Given the description of an element on the screen output the (x, y) to click on. 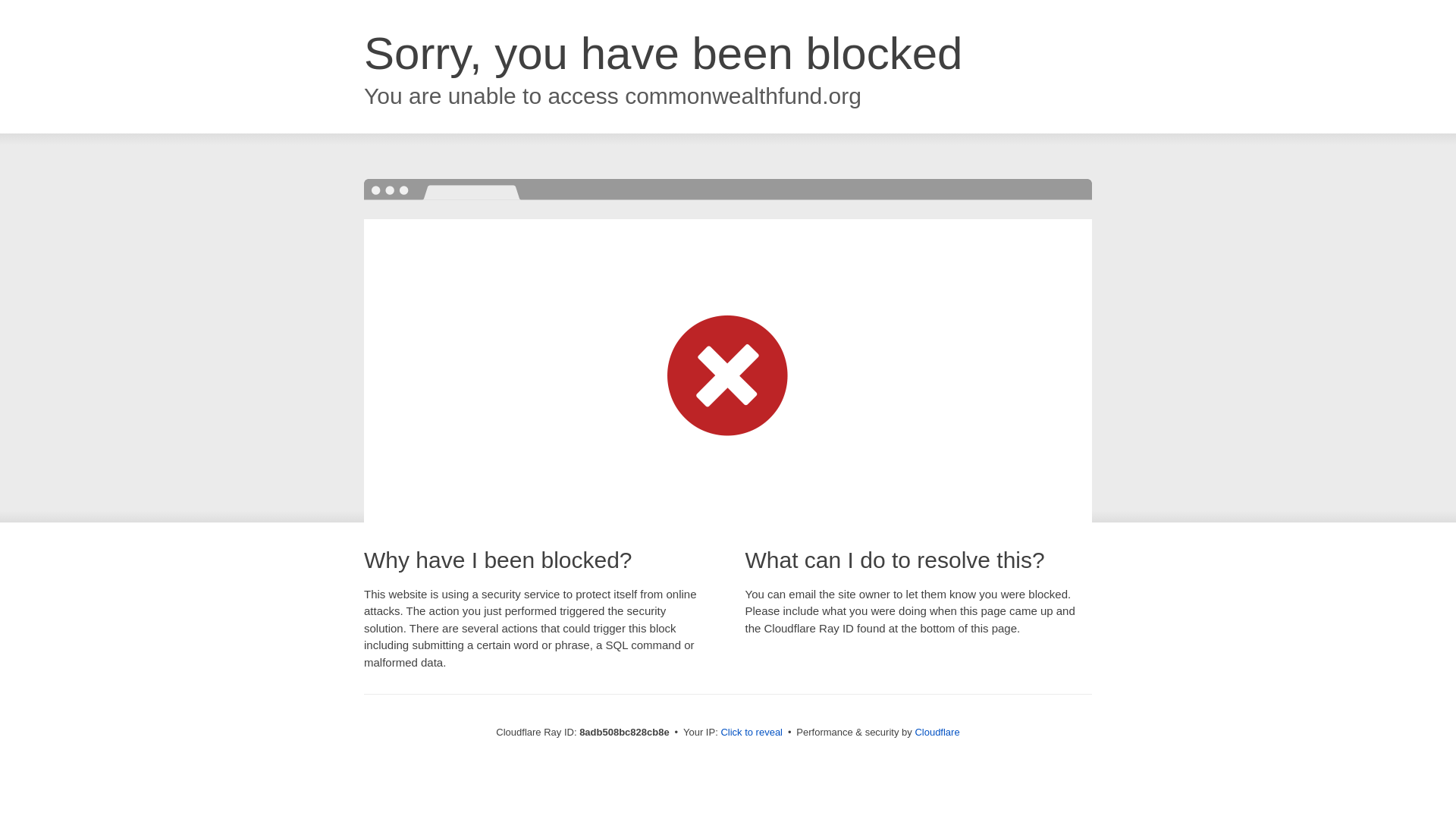
Click to reveal (751, 732)
Cloudflare (936, 731)
